Given the description of an element on the screen output the (x, y) to click on. 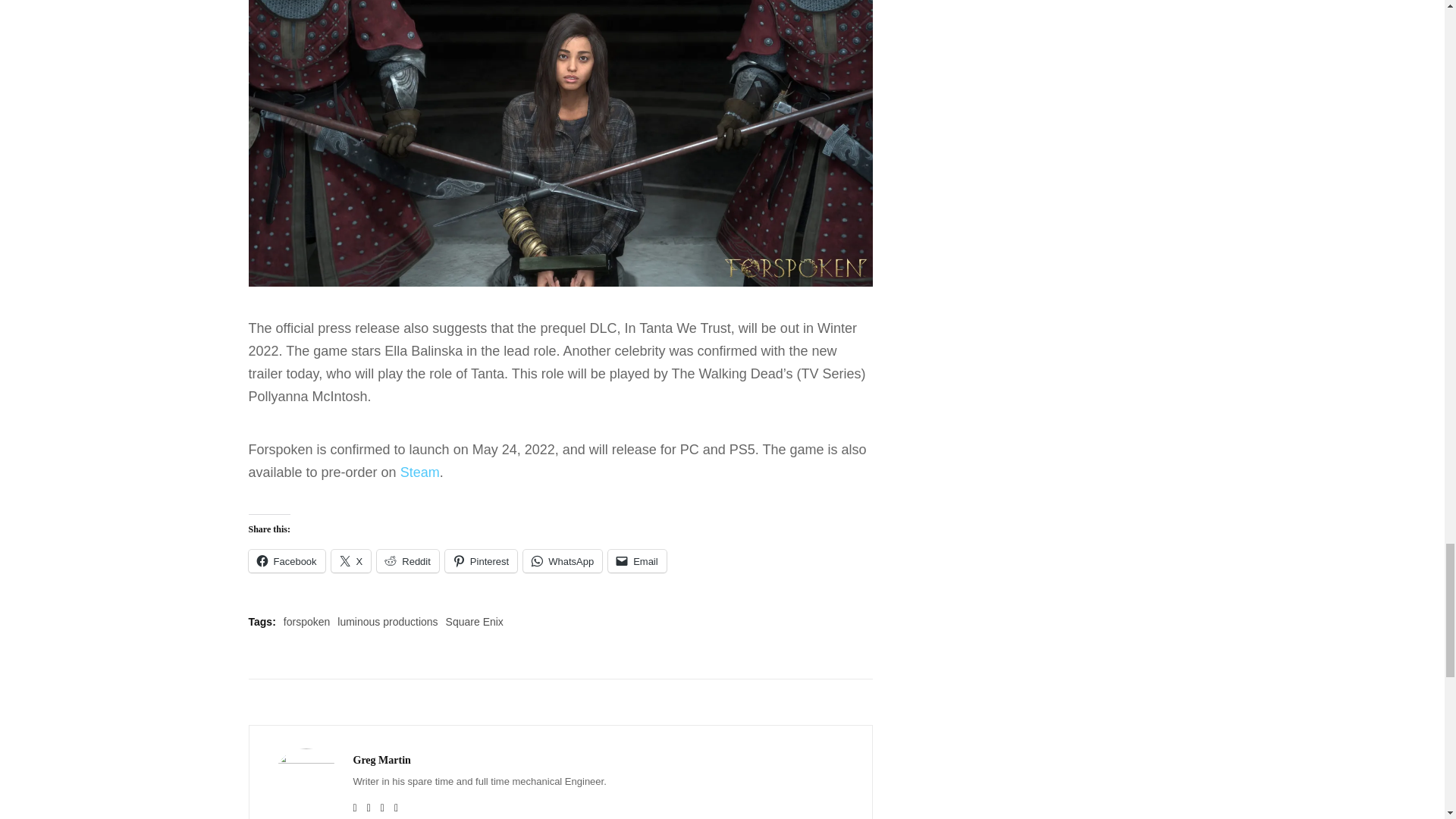
Square Enix (474, 621)
WhatsApp (562, 559)
Reddit (408, 559)
Click to share on Facebook (286, 559)
Click to email a link to a friend (637, 559)
Click to share on X (351, 559)
X (351, 559)
luminous productions (387, 621)
Click to share on Pinterest (480, 559)
Facebook (286, 559)
